Given the description of an element on the screen output the (x, y) to click on. 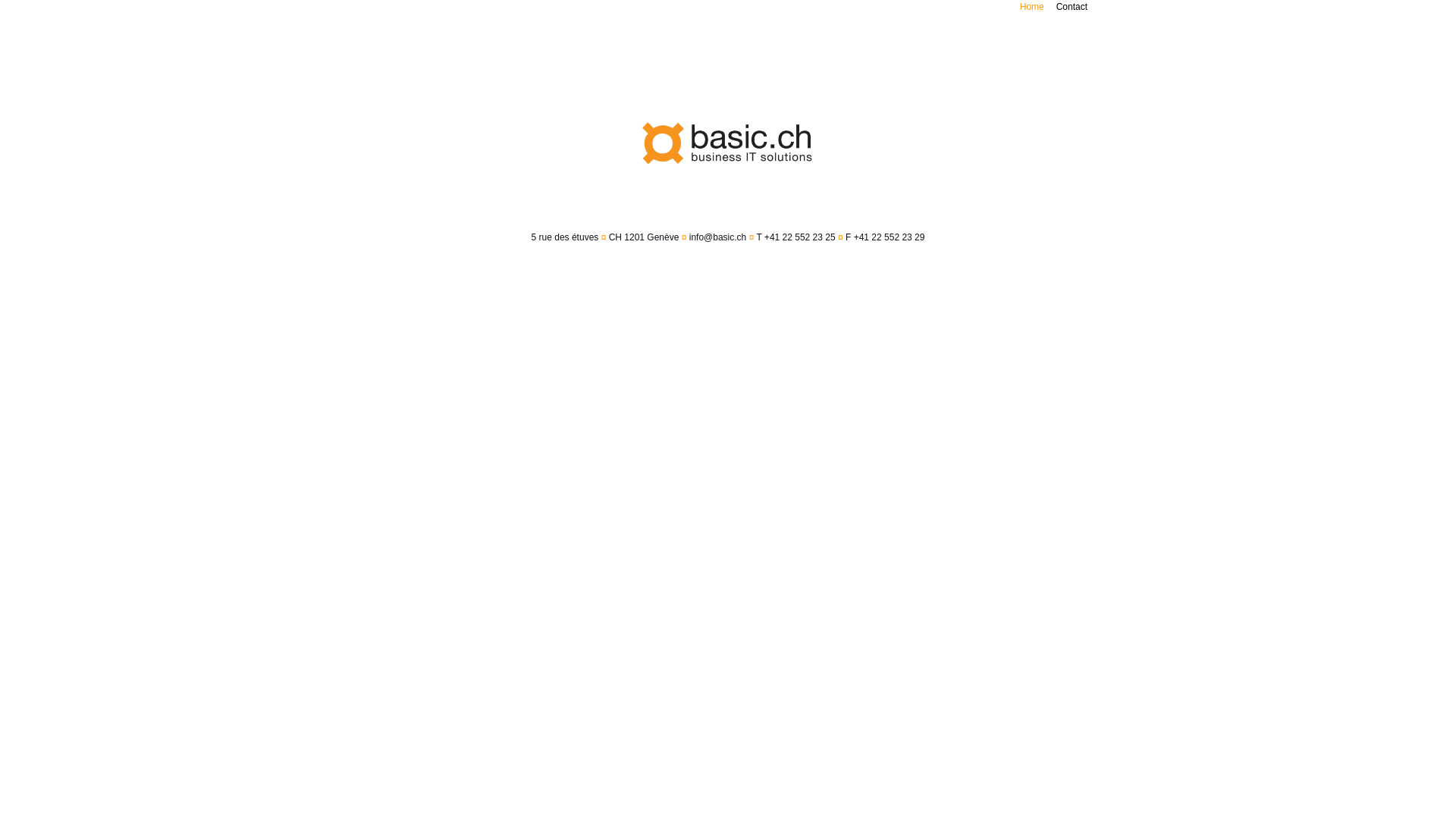
Contact Element type: text (1071, 6)
Home Element type: text (1031, 6)
